Given the description of an element on the screen output the (x, y) to click on. 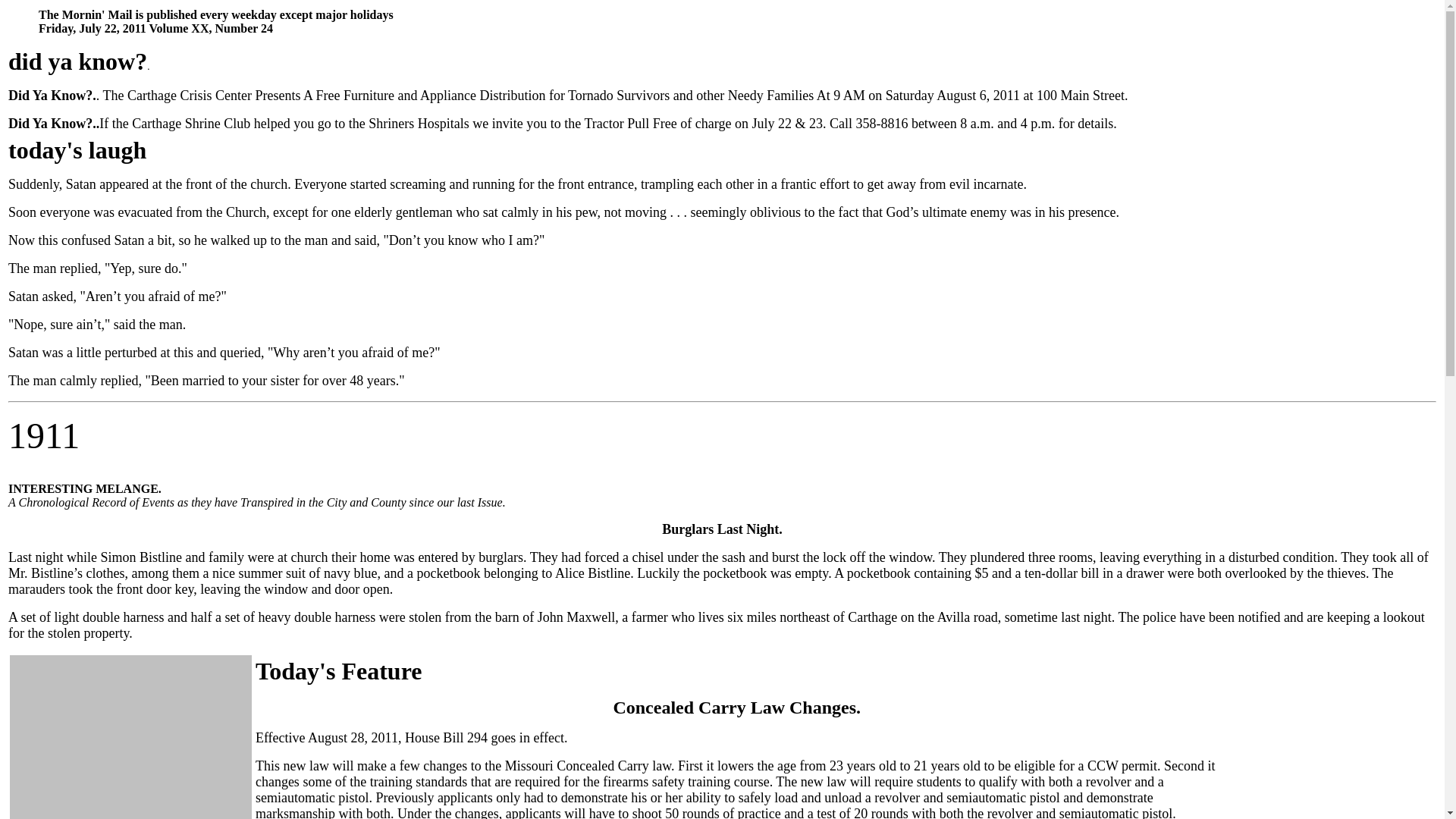
Today's Feature (339, 675)
did ya know (71, 65)
today's laugh (77, 154)
